Given the description of an element on the screen output the (x, y) to click on. 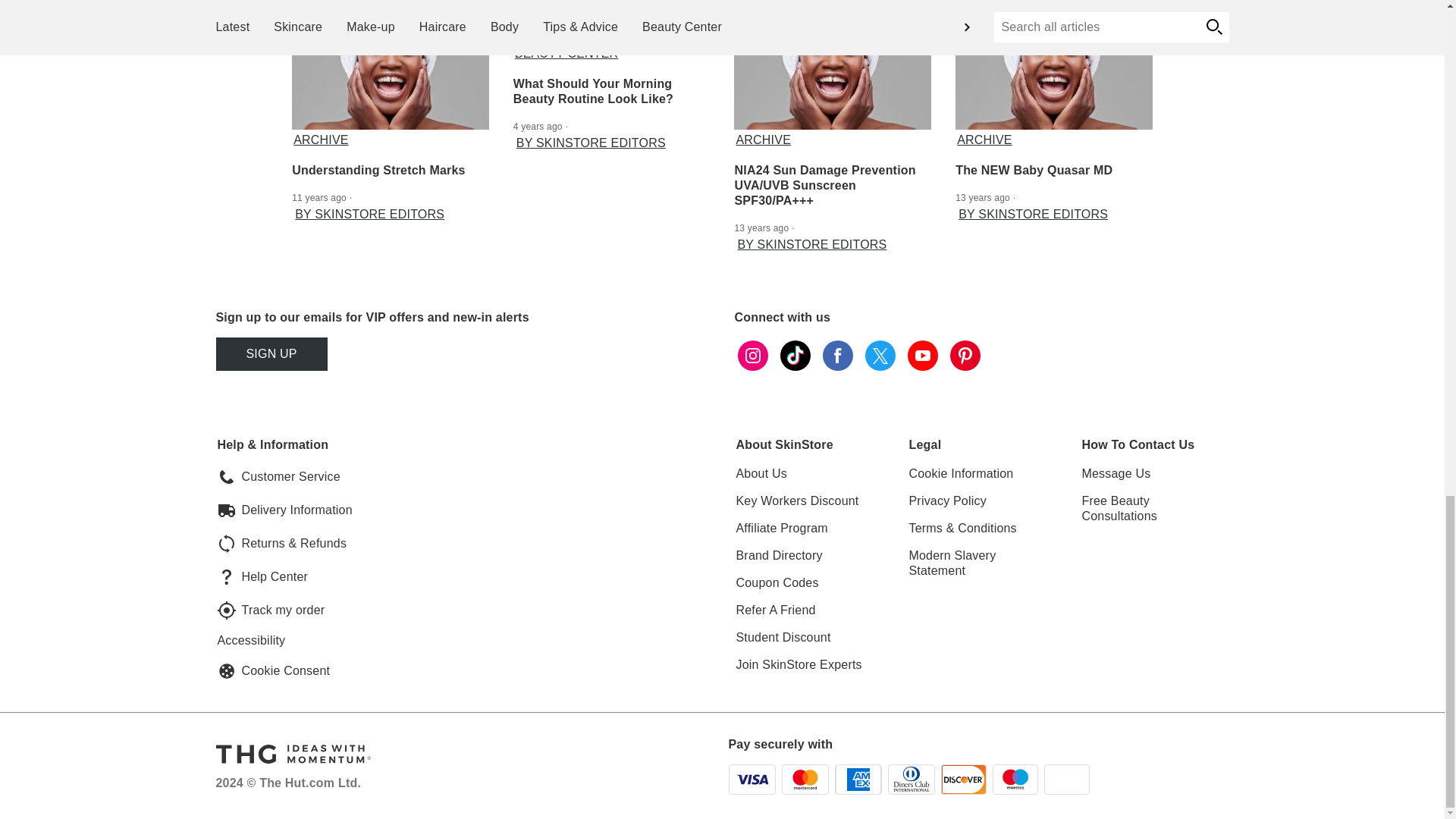
tiktok (794, 355)
instagram (751, 355)
twitter (879, 355)
facebook (837, 355)
